Given the description of an element on the screen output the (x, y) to click on. 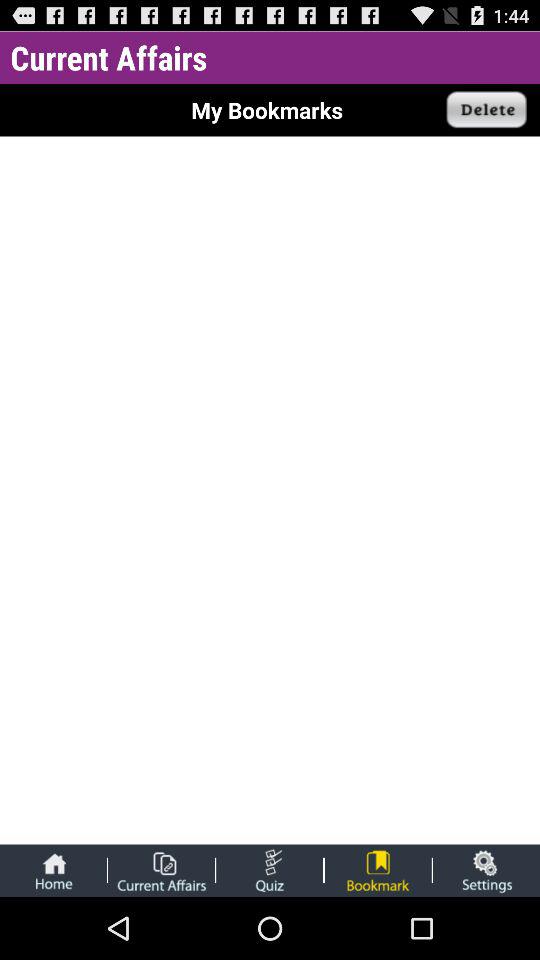
delete button (487, 109)
